Given the description of an element on the screen output the (x, y) to click on. 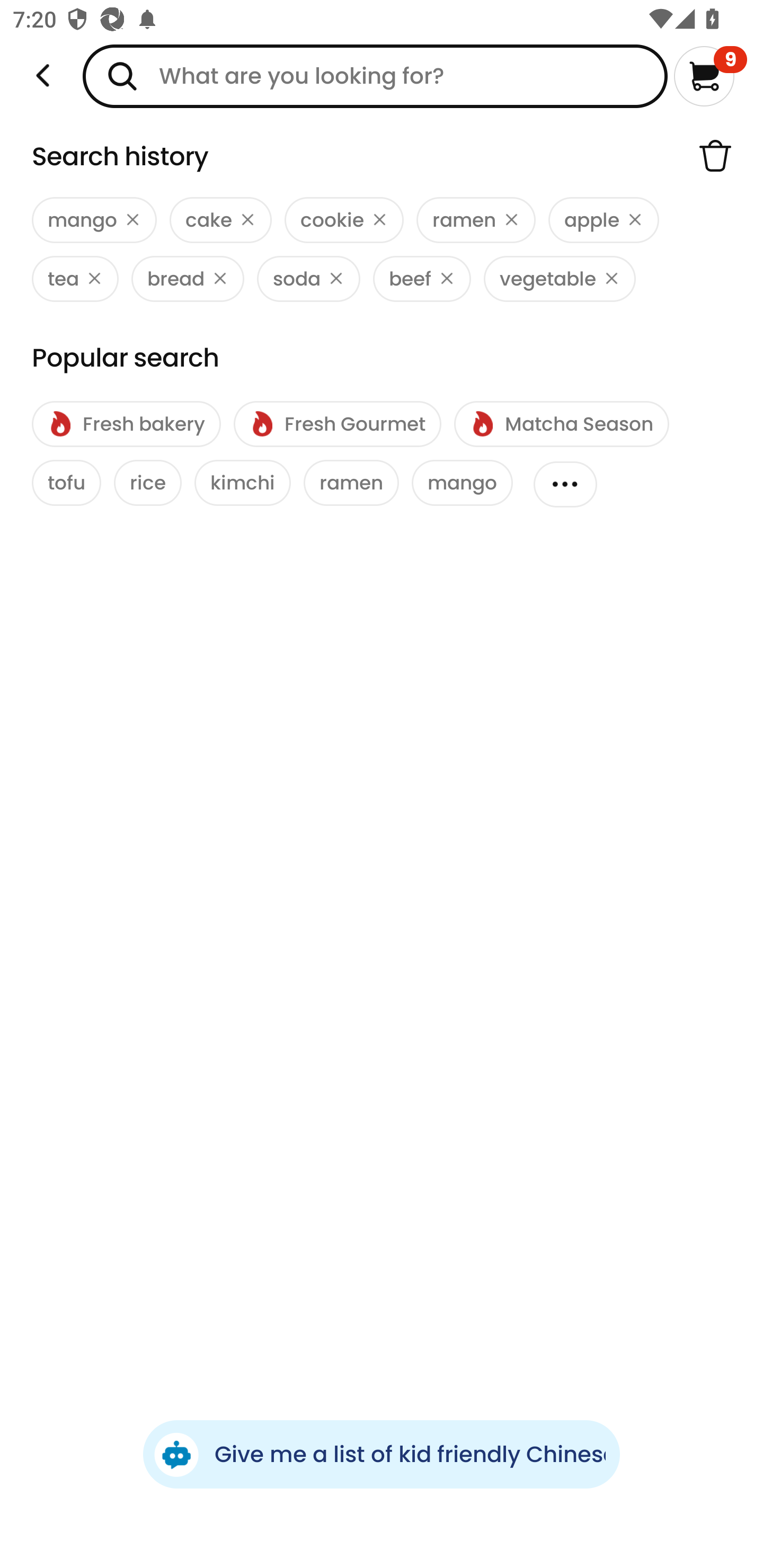
What are you looking for? (374, 75)
9 (709, 75)
Weee! (42, 76)
mango (94, 220)
cake (220, 220)
cookie (343, 220)
ramen (475, 220)
apple (603, 220)
tea (75, 278)
bread (187, 278)
soda (308, 278)
beef (421, 278)
vegetable (559, 278)
